Given the description of an element on the screen output the (x, y) to click on. 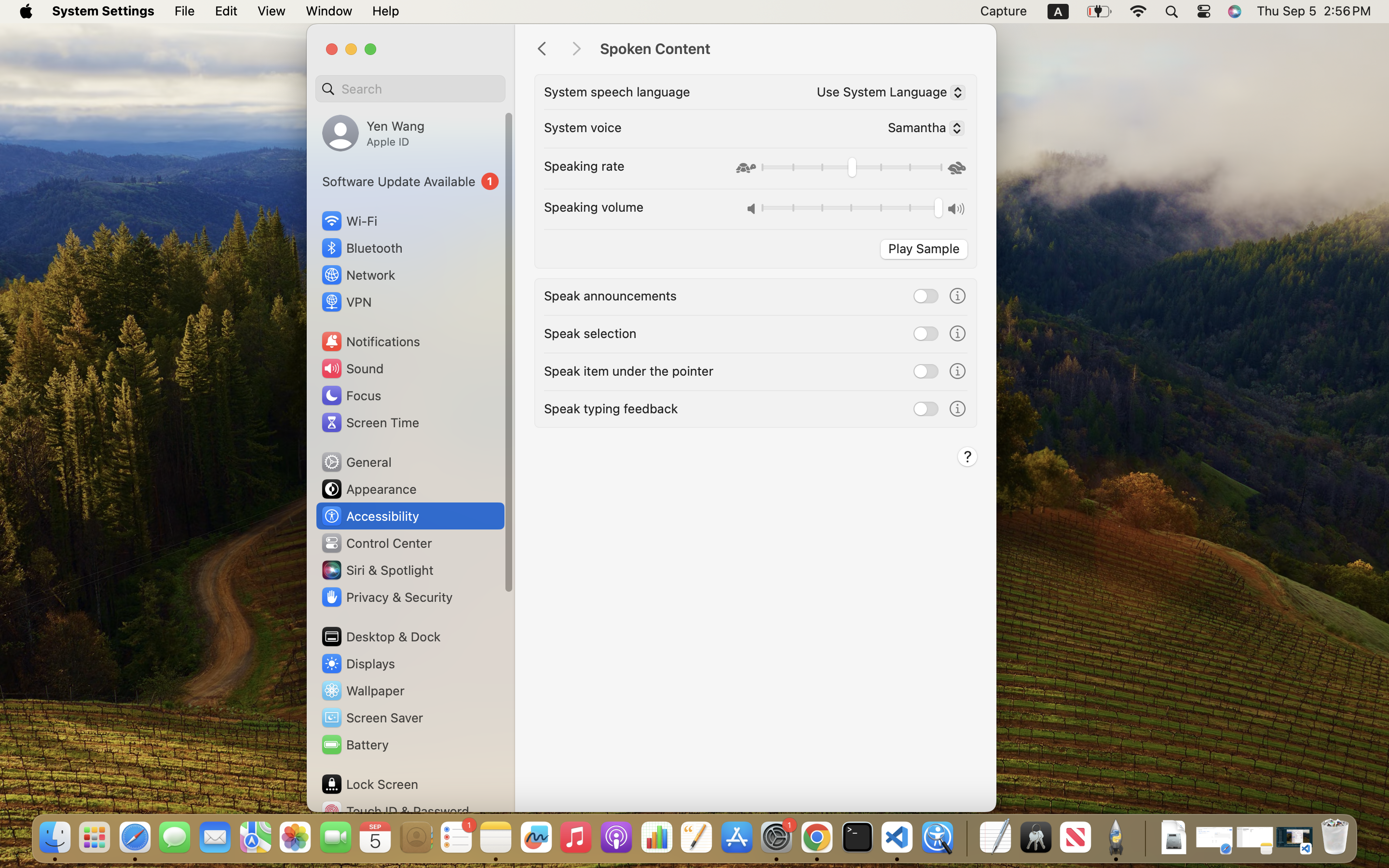
Speaking rate Element type: AXStaticText (584, 165)
Speak typing feedback Element type: AXStaticText (611, 407)
Speak item under the pointer Element type: AXStaticText (628, 370)
Bluetooth Element type: AXStaticText (361, 247)
0.4285714328289032 Element type: AXDockItem (965, 837)
